Given the description of an element on the screen output the (x, y) to click on. 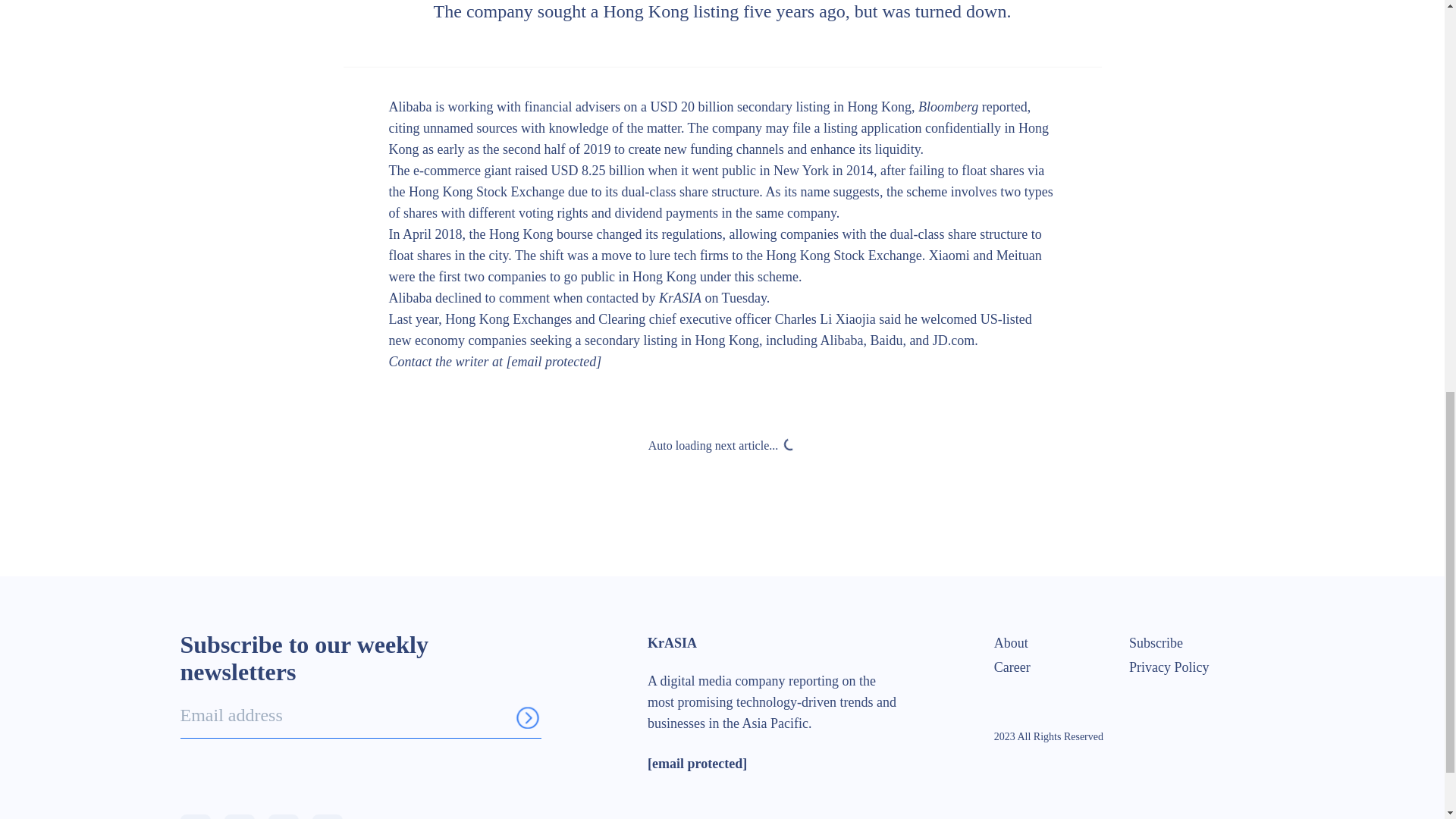
USD 20 billion secondary listing (739, 106)
changed its regulations (658, 233)
welcomed US-listed new economy companies (709, 330)
went public in New York (759, 170)
